Given the description of an element on the screen output the (x, y) to click on. 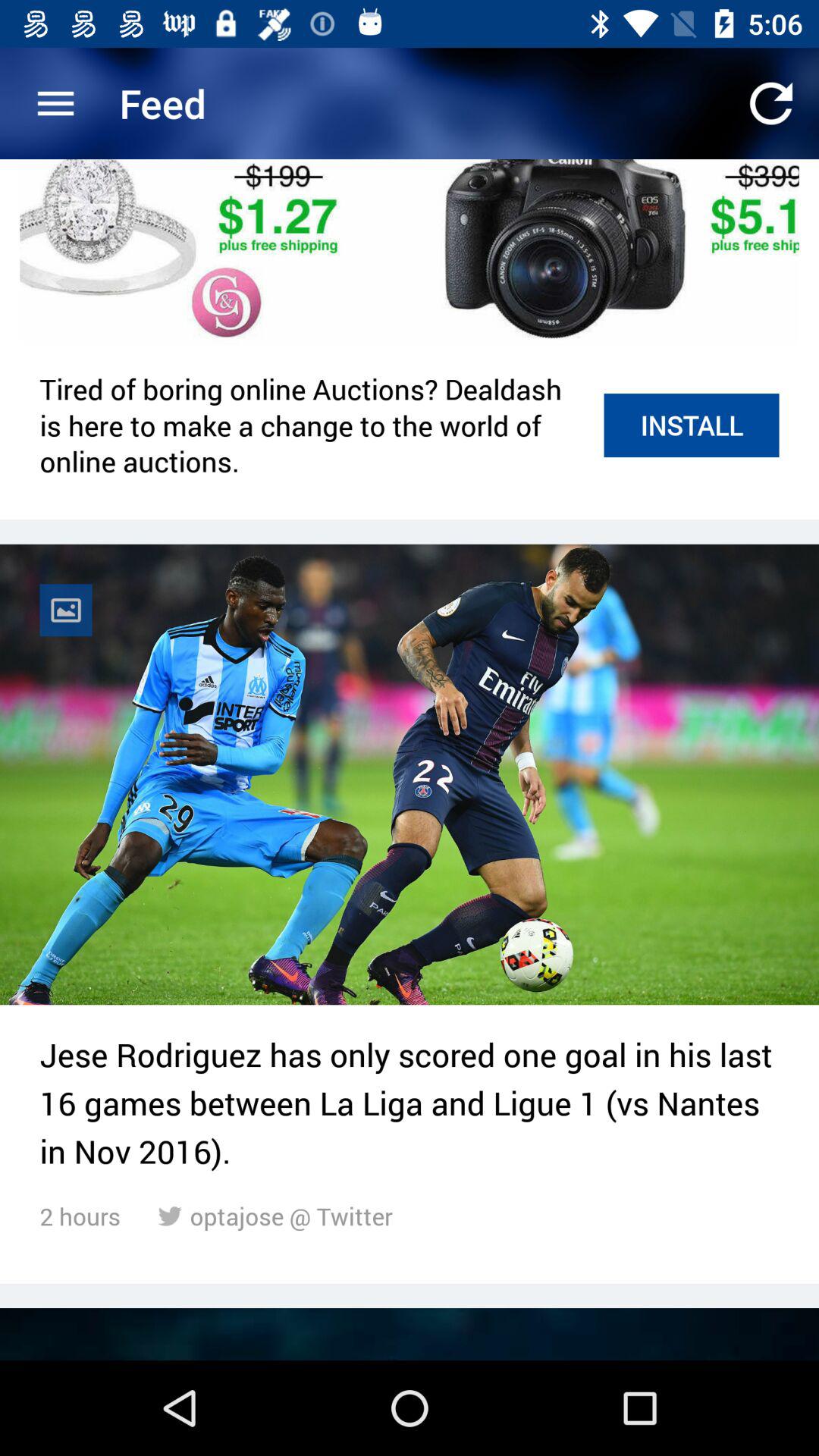
press item to the right of the feed item (771, 103)
